Given the description of an element on the screen output the (x, y) to click on. 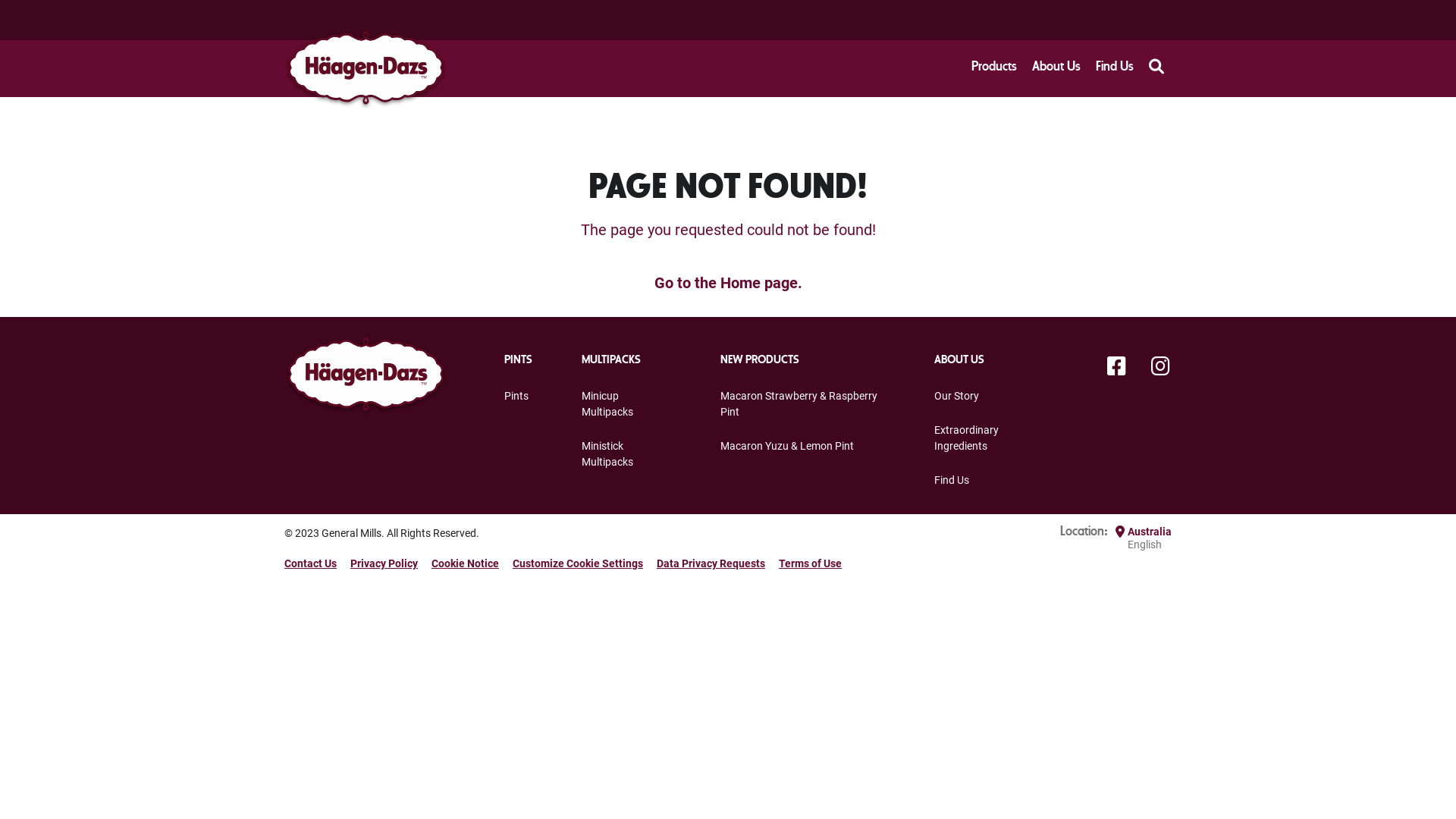
Macaron Yuzu & Lemon Pint Element type: text (786, 445)
Macaron Strawberry & Raspberry Pint Element type: text (798, 403)
About Us Element type: text (1056, 67)
Ministick Multipacks Element type: text (607, 453)
Find Us Element type: text (951, 479)
Contact Us Element type: text (310, 563)
Data Privacy Requests Element type: text (710, 563)
Our Story Element type: text (956, 395)
Facebook Element type: hover (1116, 366)
Cookie Notice Element type: text (464, 563)
Extraordinary Ingredients Element type: text (966, 437)
Customize Cookie Settings Element type: text (577, 563)
Australia
English Element type: text (1149, 538)
Home Element type: text (740, 282)
Privacy Policy Element type: text (383, 563)
Products Element type: text (993, 67)
Search Element type: text (1156, 68)
Find Us Element type: text (1114, 67)
Pints Element type: text (516, 395)
Instagram Element type: hover (1160, 366)
Terms of Use Element type: text (809, 563)
Minicup Multipacks Element type: text (607, 403)
